Given the description of an element on the screen output the (x, y) to click on. 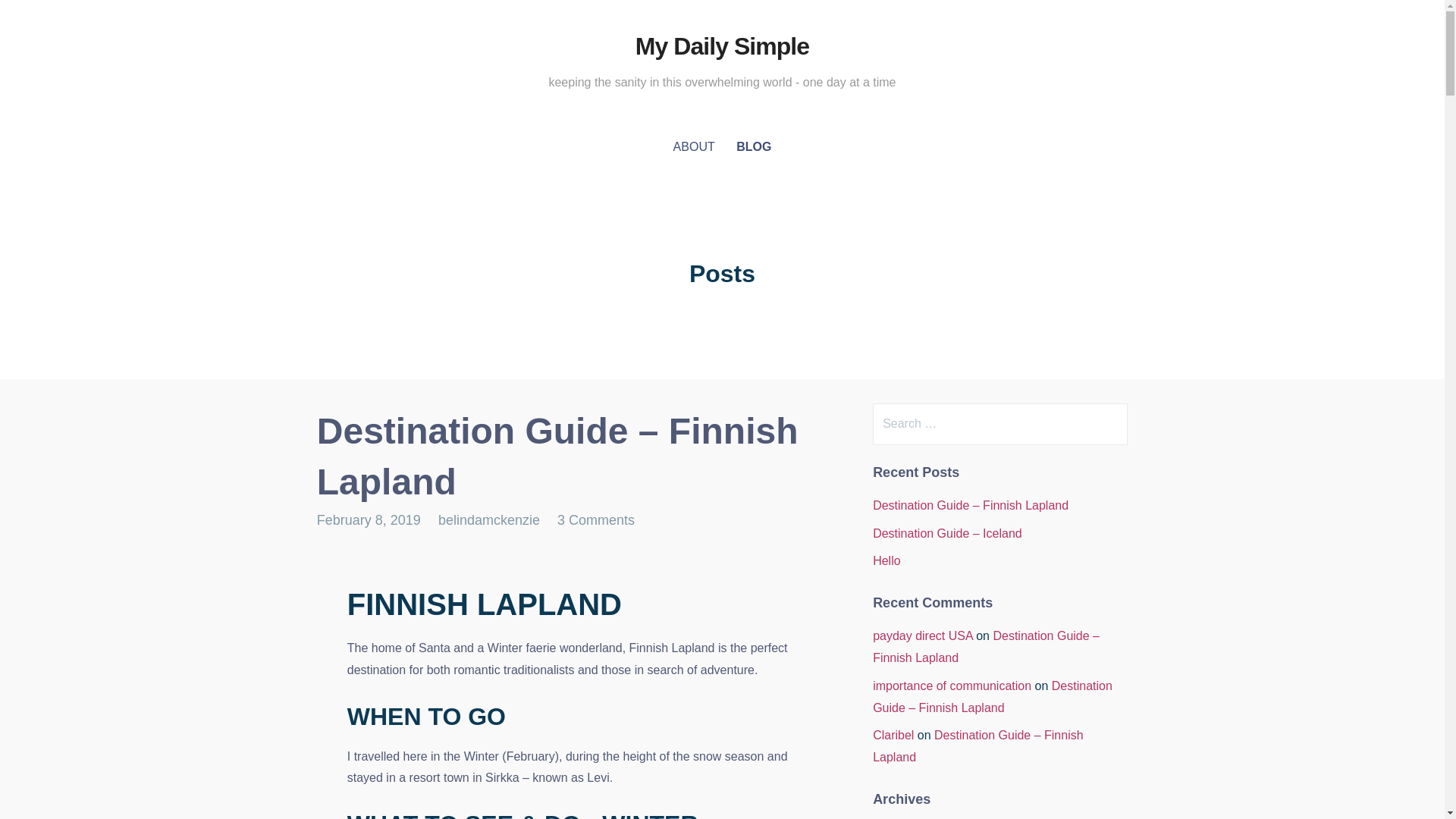
belindamckenzie (489, 519)
Hello (885, 560)
3 Comments (595, 519)
Claribel (893, 735)
payday direct USA (922, 635)
ABOUT (693, 146)
importance of communication (951, 685)
Search (42, 18)
Posts by belindamckenzie (489, 519)
BLOG (753, 146)
My Daily Simple (721, 45)
